Given the description of an element on the screen output the (x, y) to click on. 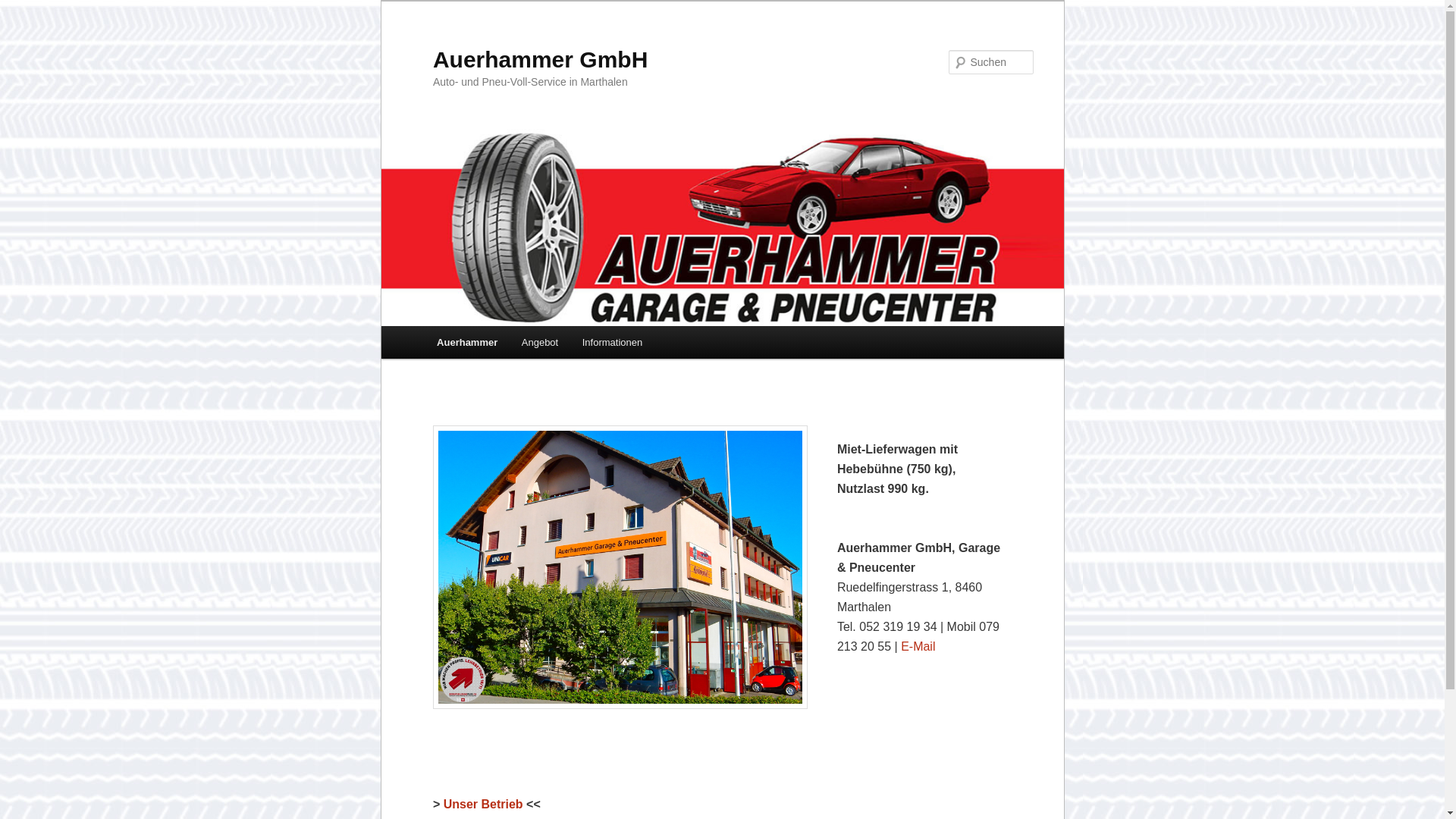
Informationen Element type: text (612, 342)
Suchen Element type: text (26, 9)
Angebot Element type: text (539, 342)
Unser Betrieb Element type: text (483, 803)
Zum Inhalt wechseln Element type: text (24, 0)
E-Mail Element type: text (917, 646)
Auerhammer Element type: text (466, 342)
Auerhammer GmbH Element type: text (540, 59)
